Given the description of an element on the screen output the (x, y) to click on. 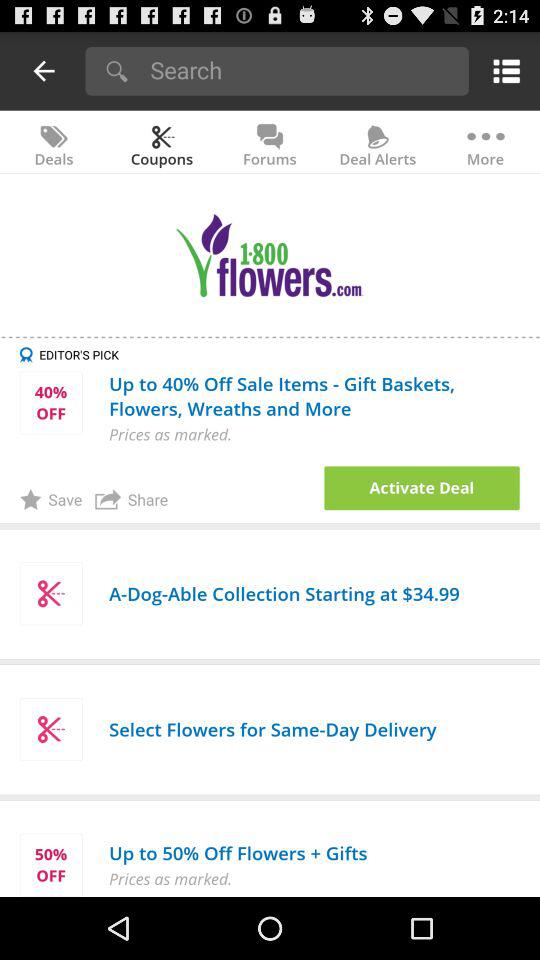
swipe until save item (50, 499)
